Given the description of an element on the screen output the (x, y) to click on. 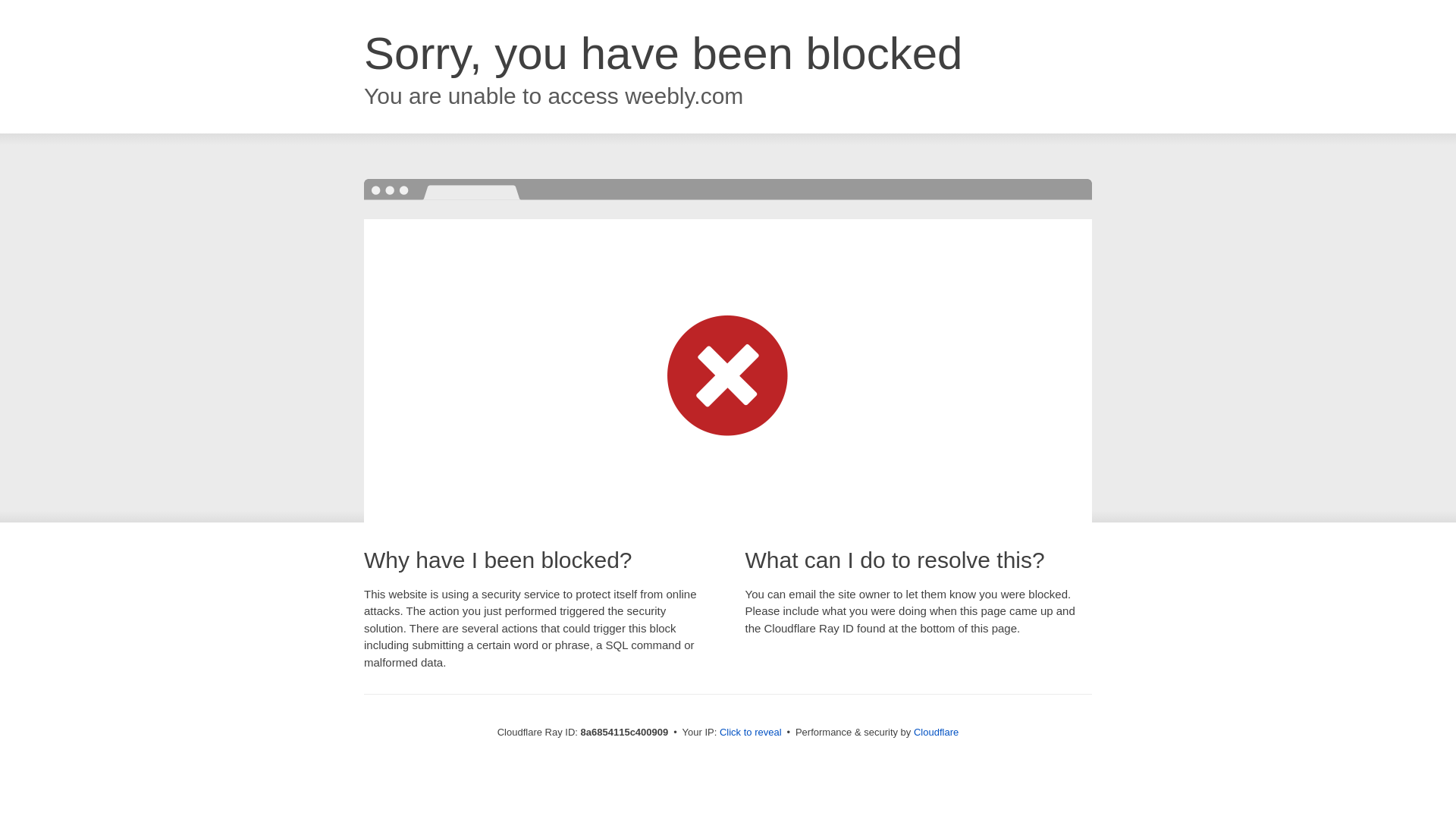
Cloudflare (936, 731)
Click to reveal (750, 732)
